Given the description of an element on the screen output the (x, y) to click on. 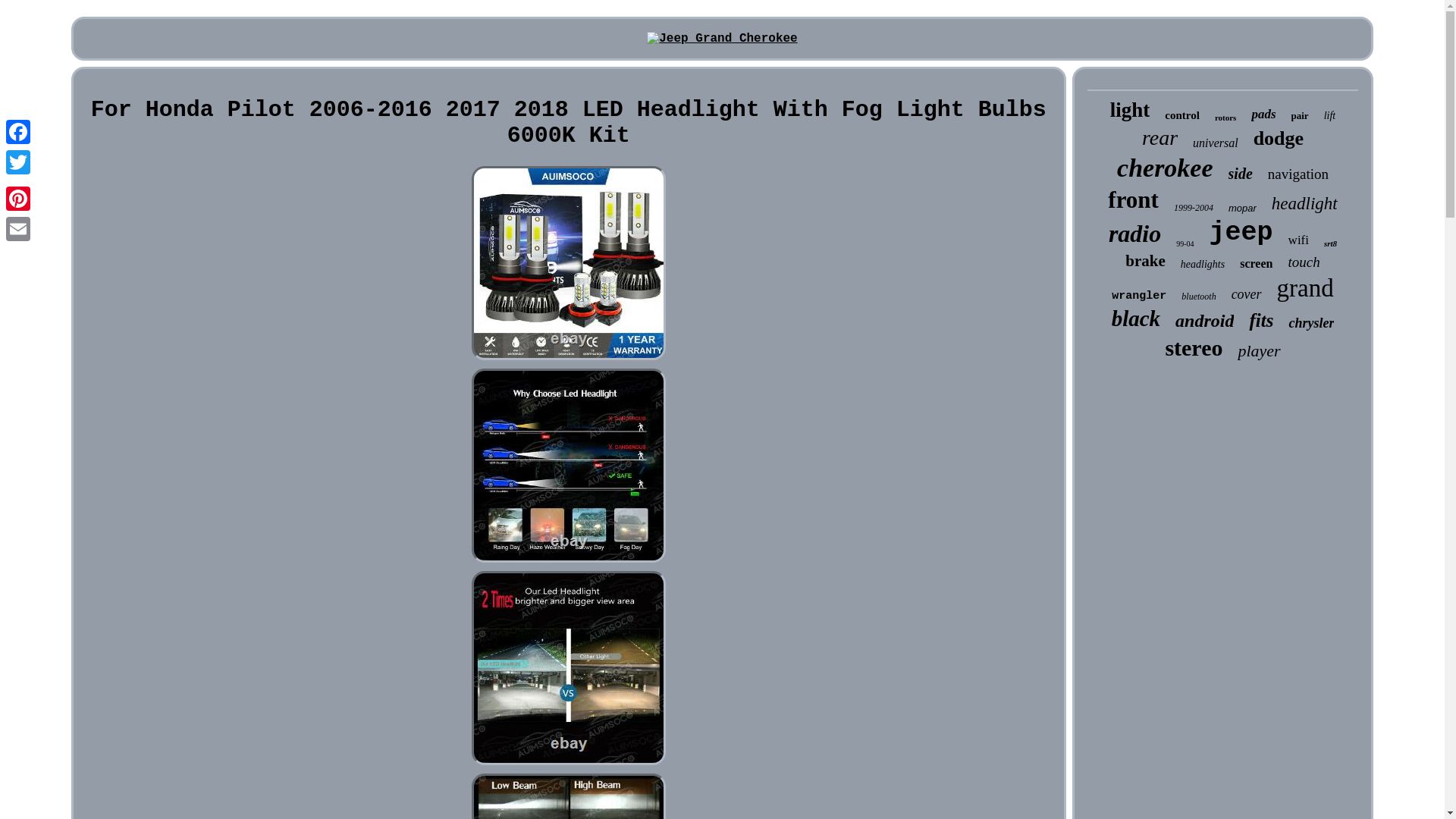
pair (1299, 115)
cherokee (1164, 167)
lift (1329, 115)
cover (1246, 294)
bluetooth (1197, 296)
wrangler (1139, 295)
Pinterest (17, 198)
headlights (1202, 264)
